Given the description of an element on the screen output the (x, y) to click on. 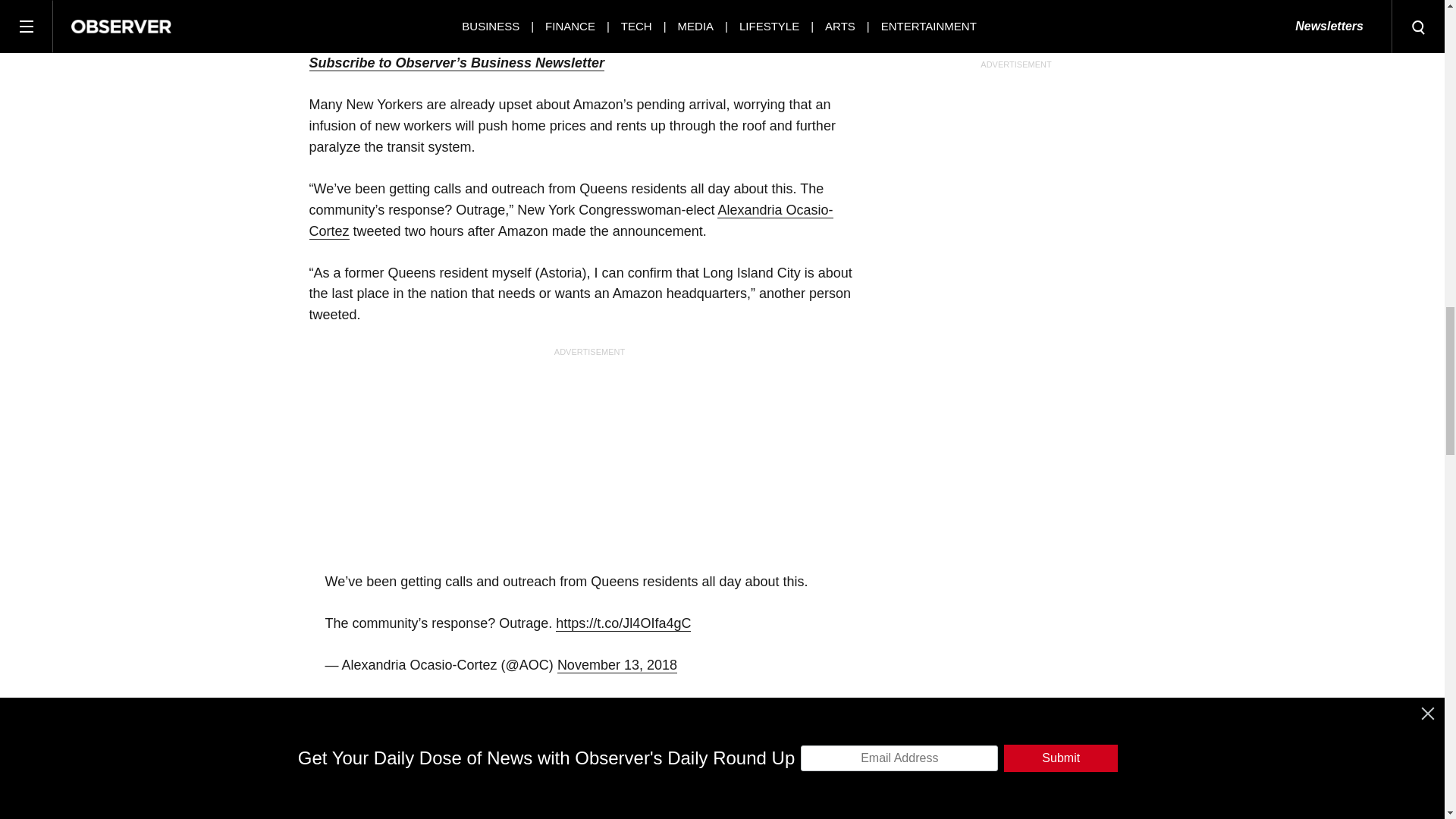
Alexandria Ocasio-Cortez (570, 220)
